Given the description of an element on the screen output the (x, y) to click on. 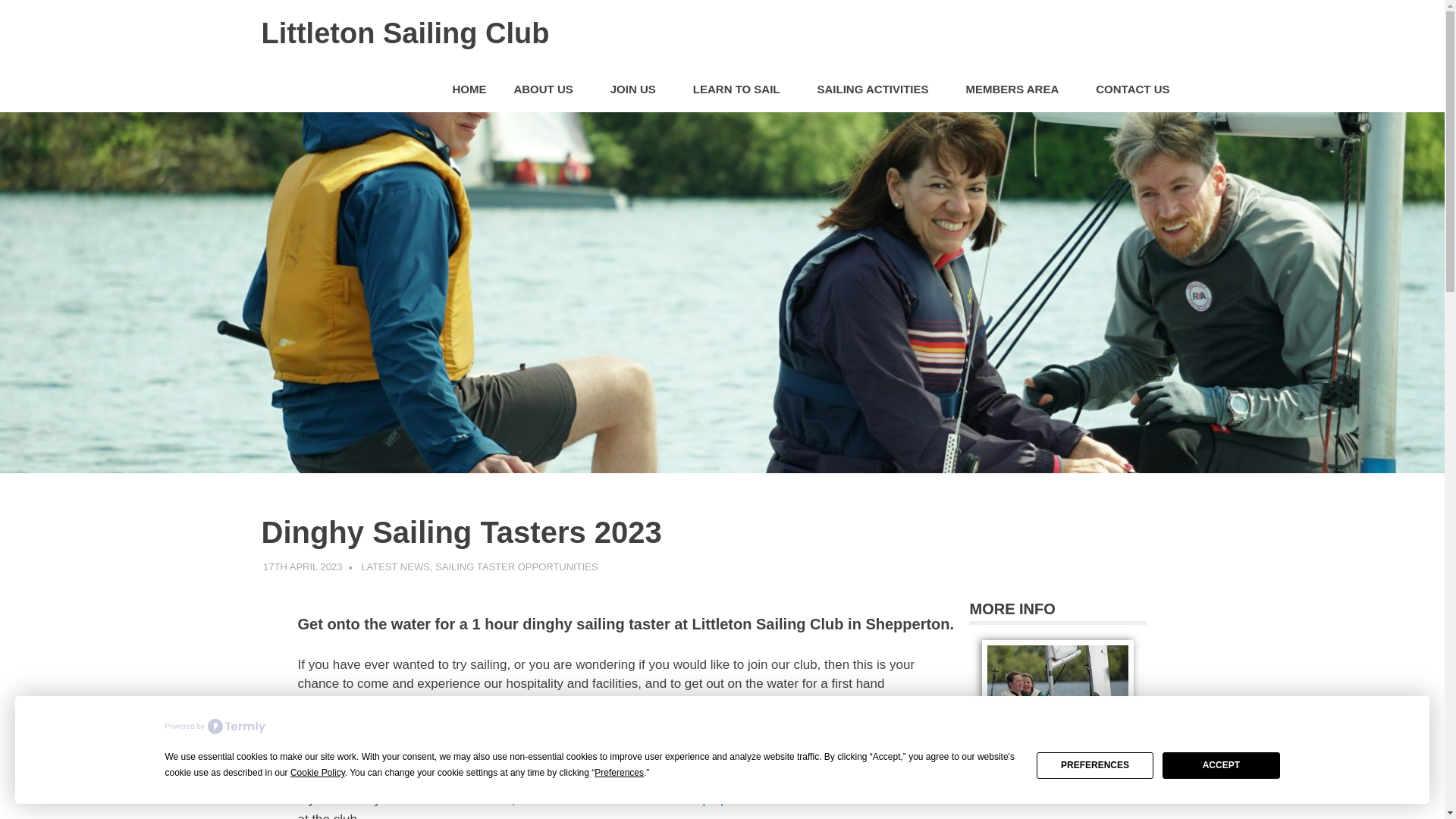
Littleton Sailing Club (404, 33)
12:08 pm (302, 566)
PREFERENCES (1094, 765)
JOIN US (637, 89)
SAILING ACTIVITIES (877, 89)
HOME (468, 89)
ACCEPT (1220, 765)
ABOUT US (547, 89)
LEARN TO SAIL (741, 89)
View all posts by Louise Veryard (401, 566)
